Given the description of an element on the screen output the (x, y) to click on. 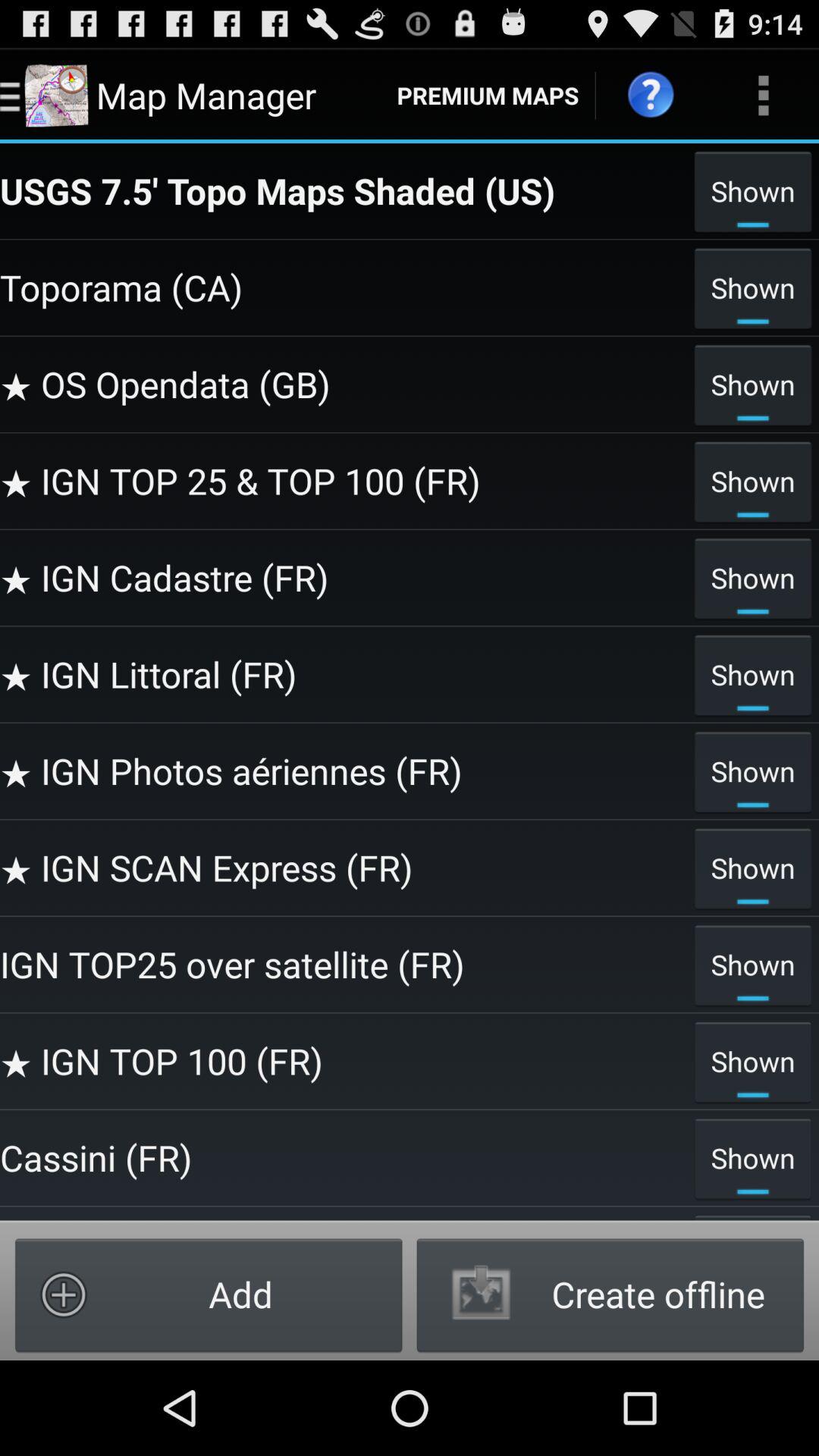
press the icon below shown (610, 1294)
